Given the description of an element on the screen output the (x, y) to click on. 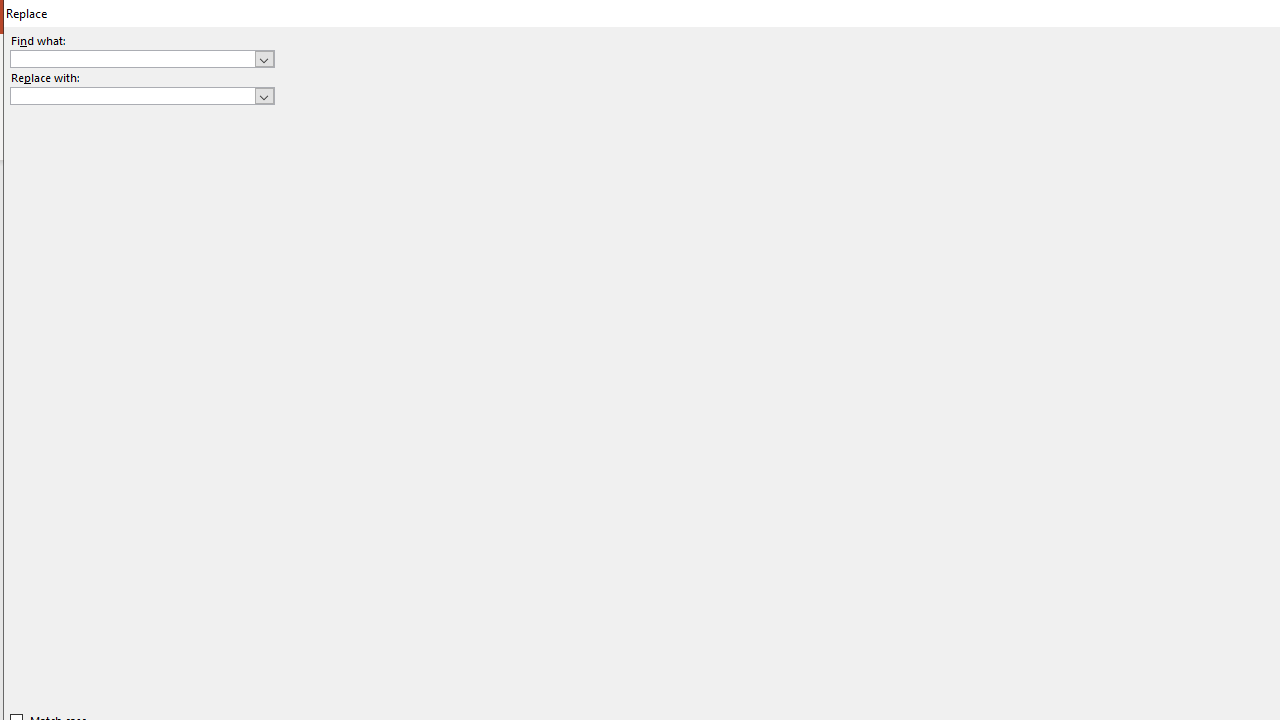
Find what (142, 58)
Replace with (132, 95)
Replace with (142, 96)
Find what (132, 58)
